Given the description of an element on the screen output the (x, y) to click on. 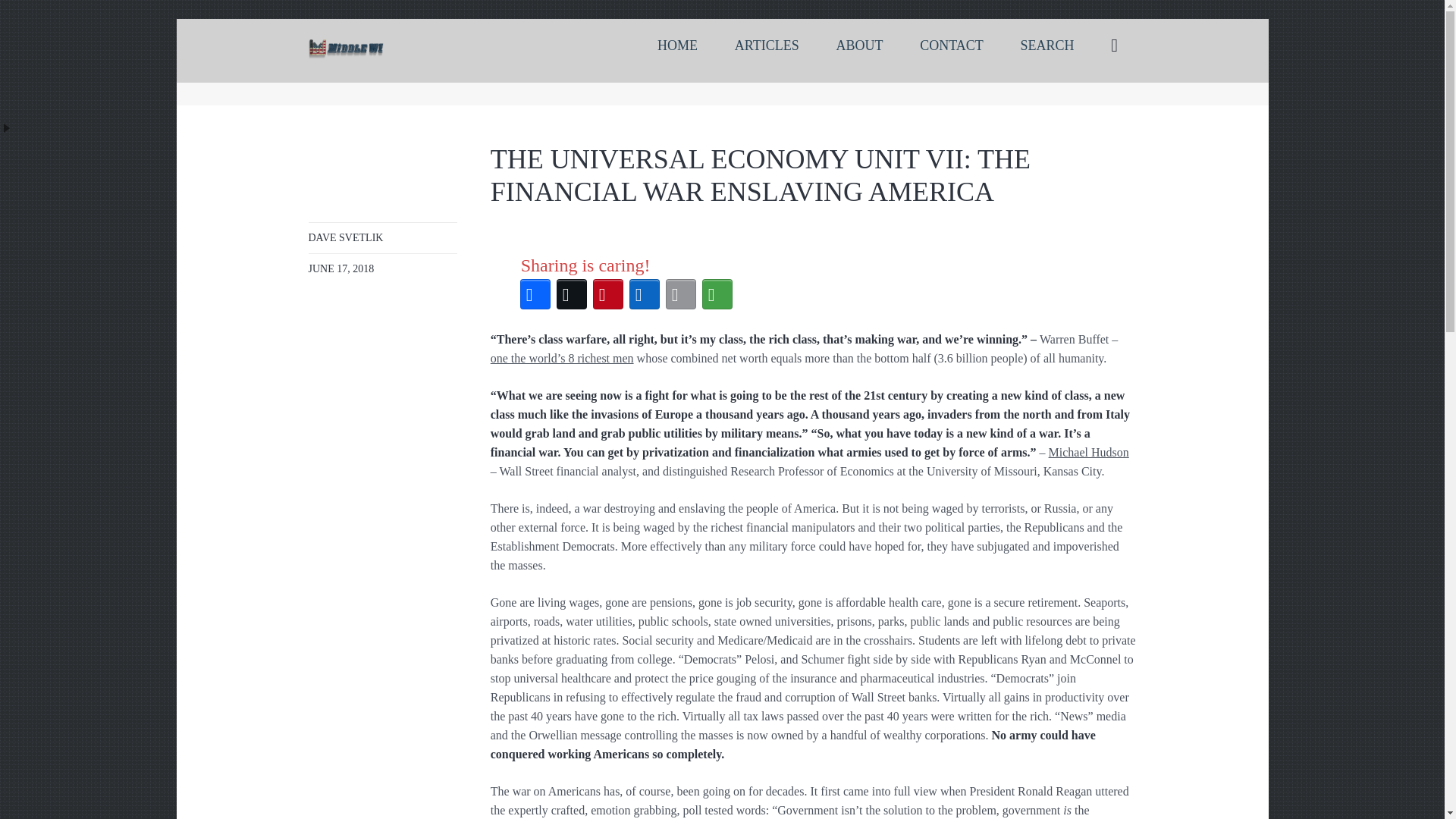
ARTICLES (766, 45)
LinkedIn (644, 294)
ABOUT (859, 45)
Pinterest (607, 294)
DAVE SVETLIK (344, 237)
Posts by Dave Svetlik (344, 237)
CONTACT (951, 45)
Michael Hudson (1088, 451)
SEARCH (1047, 45)
HOME (677, 45)
Facebook (534, 294)
Email This (680, 294)
More Options (716, 294)
